Given the description of an element on the screen output the (x, y) to click on. 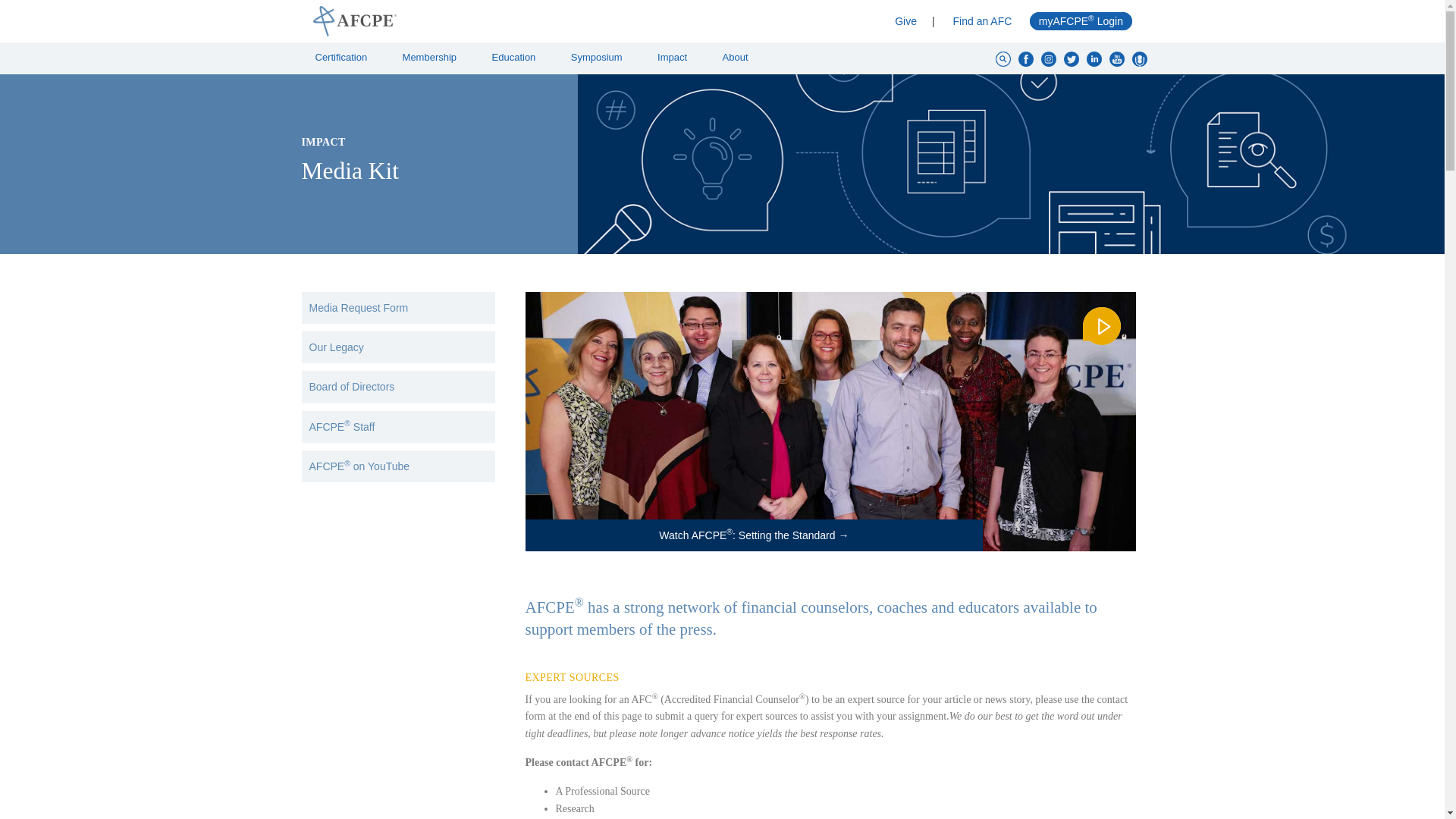
Certification (346, 57)
AFCPE (511, 20)
Find an AFC (982, 21)
Membership (434, 57)
Give (906, 21)
